Given the description of an element on the screen output the (x, y) to click on. 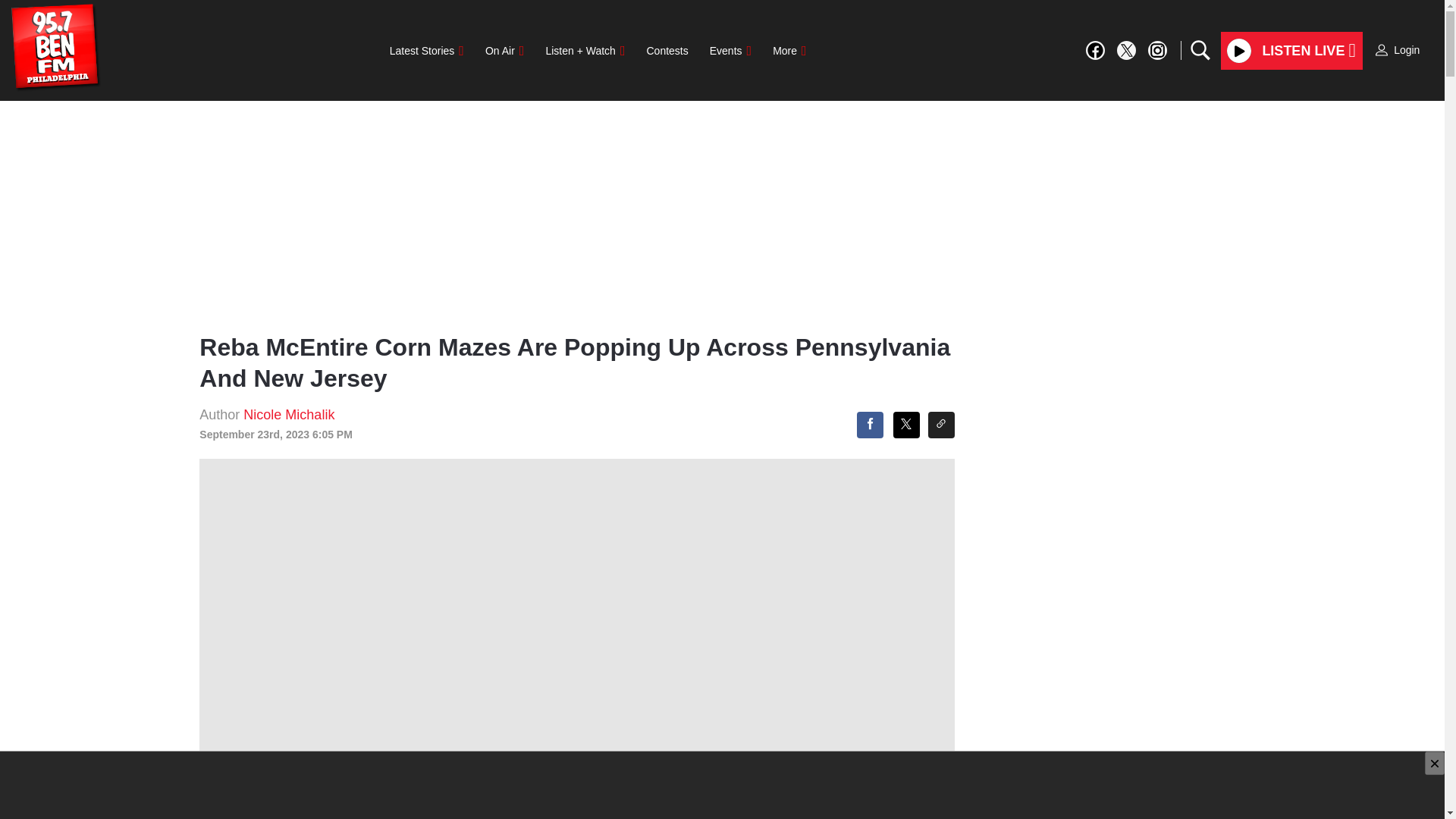
Nicole Michalik (288, 414)
Close AdCheckmark indicating ad close (1434, 763)
Events (729, 51)
Contests (666, 51)
On Air (504, 51)
More (788, 51)
Latest Stories (426, 51)
